Given the description of an element on the screen output the (x, y) to click on. 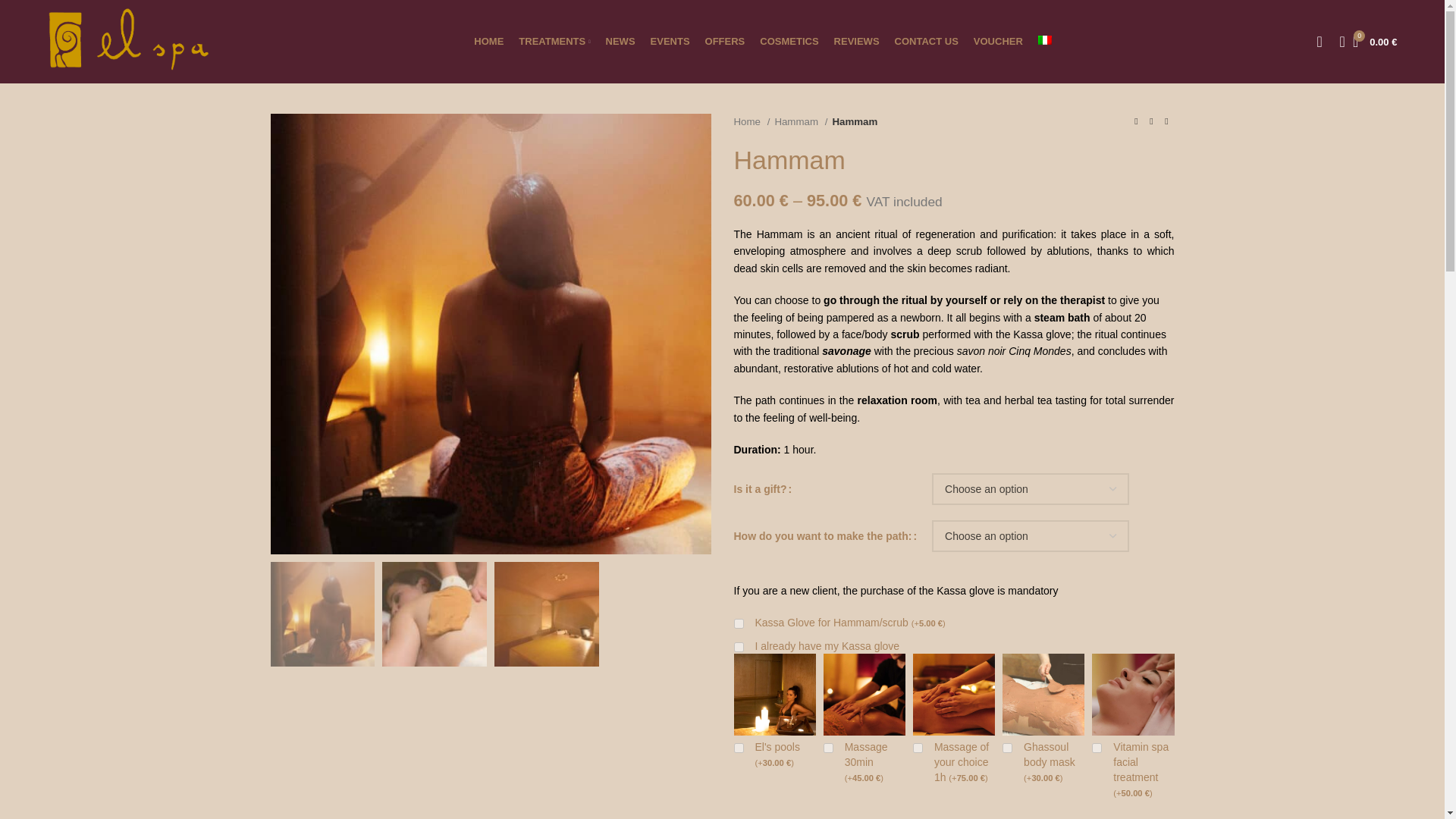
NEWS (619, 41)
Massage 30min (828, 747)
COSMETICS (789, 41)
El's pools (738, 747)
Home (751, 121)
CONTACT US (926, 41)
HOME (488, 41)
VOUCHER (998, 41)
Shopping cart (1375, 41)
EVENTS (670, 41)
